Given the description of an element on the screen output the (x, y) to click on. 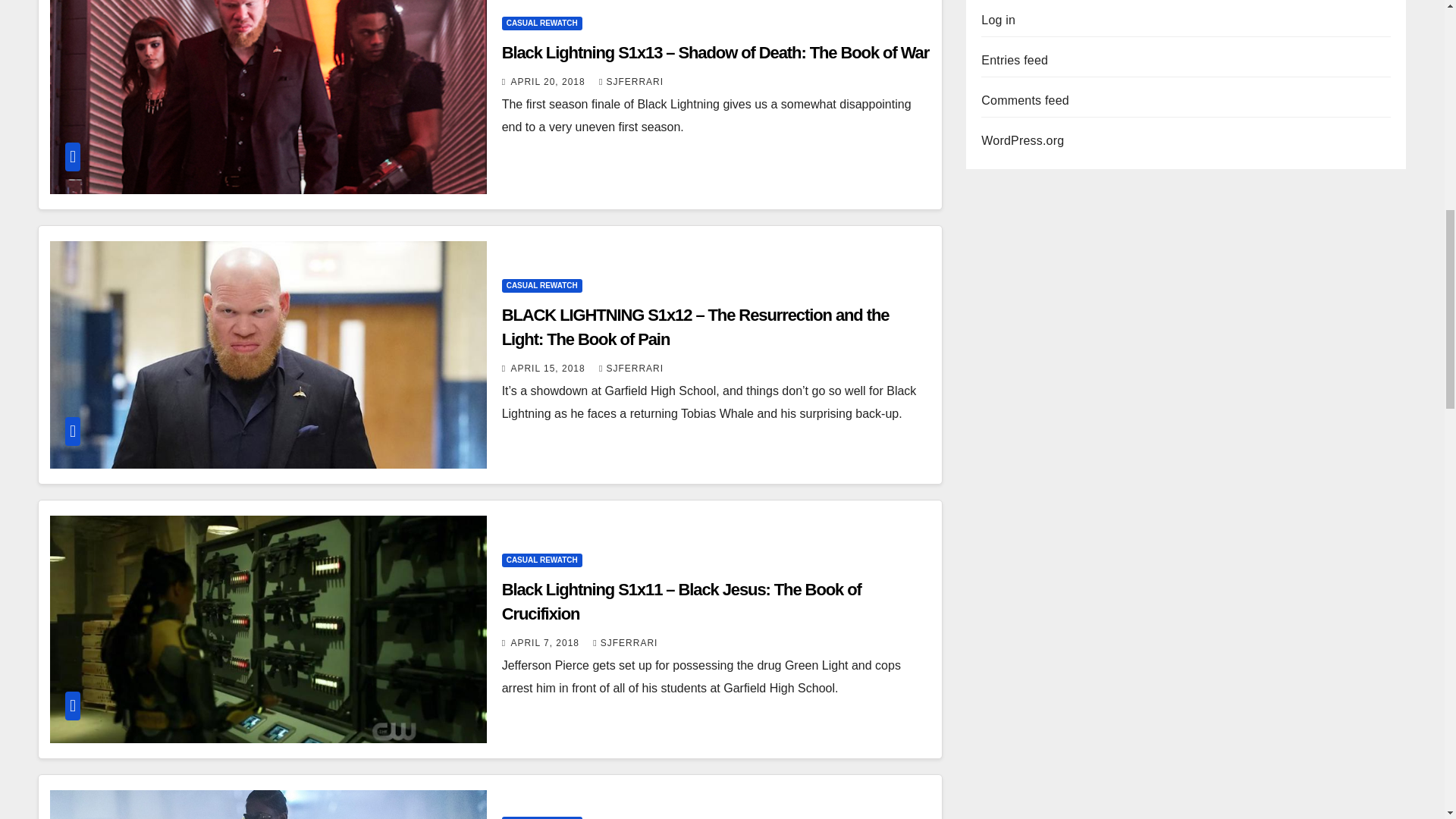
CASUAL REWATCH (542, 23)
APRIL 7, 2018 (546, 643)
APRIL 20, 2018 (549, 81)
CASUAL REWATCH (542, 817)
SJFERRARI (630, 368)
CASUAL REWATCH (542, 285)
SJFERRARI (625, 643)
SJFERRARI (630, 81)
APRIL 15, 2018 (549, 368)
CASUAL REWATCH (542, 560)
